Given the description of an element on the screen output the (x, y) to click on. 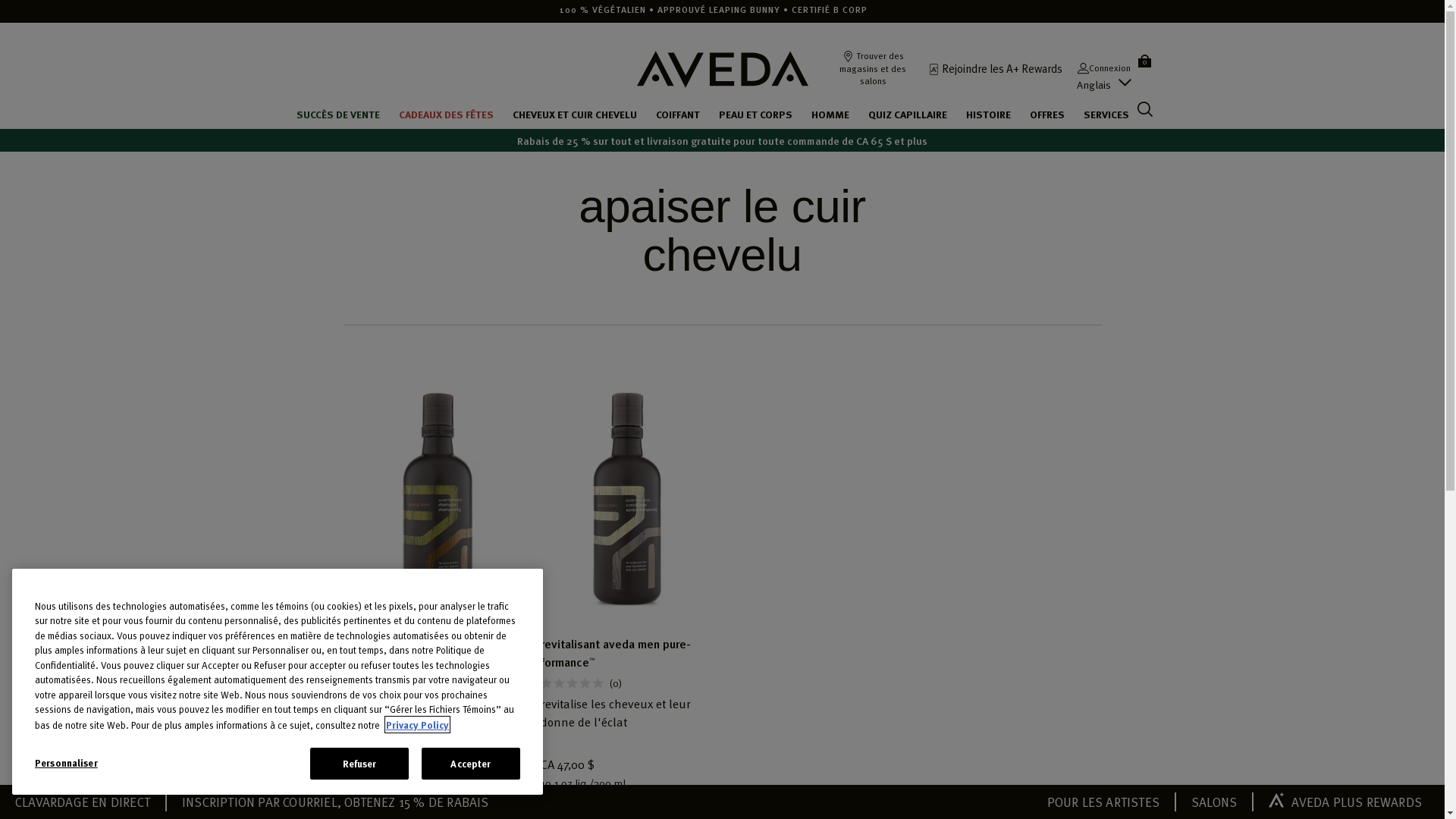
SALONS Element type: text (1213, 801)
QUIZ CAPILLAIRE Element type: text (907, 113)
Refuser Element type: text (359, 763)
Rejoindre les A+ Rewards Element type: text (999, 67)
AVEDA PLUS REWARDS Element type: text (1344, 801)
Privacy Policy Element type: text (416, 724)
CHEVEUX ET CUIR CHEVELU Element type: text (574, 113)
OFFRES Element type: text (1046, 113)
panier
0 Element type: text (1143, 59)
PEAU ET CORPS Element type: text (755, 113)
CLAVARDAGE EN DIRECT Element type: text (82, 801)
Anglais Element type: text (1093, 84)
Connexion Element type: text (1102, 67)
COIFFANT Element type: text (677, 113)
HOMME Element type: text (830, 113)
Accepter Element type: text (470, 763)
Personnaliser Element type: text (100, 762)
INSCRIPTION PAR COURRIEL, OBTENEZ 15 % DE RABAIS Element type: text (335, 801)
POUR LES ARTISTES Element type: text (1103, 801)
nettoie et hydrate les cheveux Element type: text (429, 702)
SERVICES Element type: text (1106, 113)
HISTOIRE Element type: text (988, 113)
POUR LES PROFESSIONNELS Element type: text (356, 28)
Trouver des magasins et des salons Element type: text (872, 67)
